Given the description of an element on the screen output the (x, y) to click on. 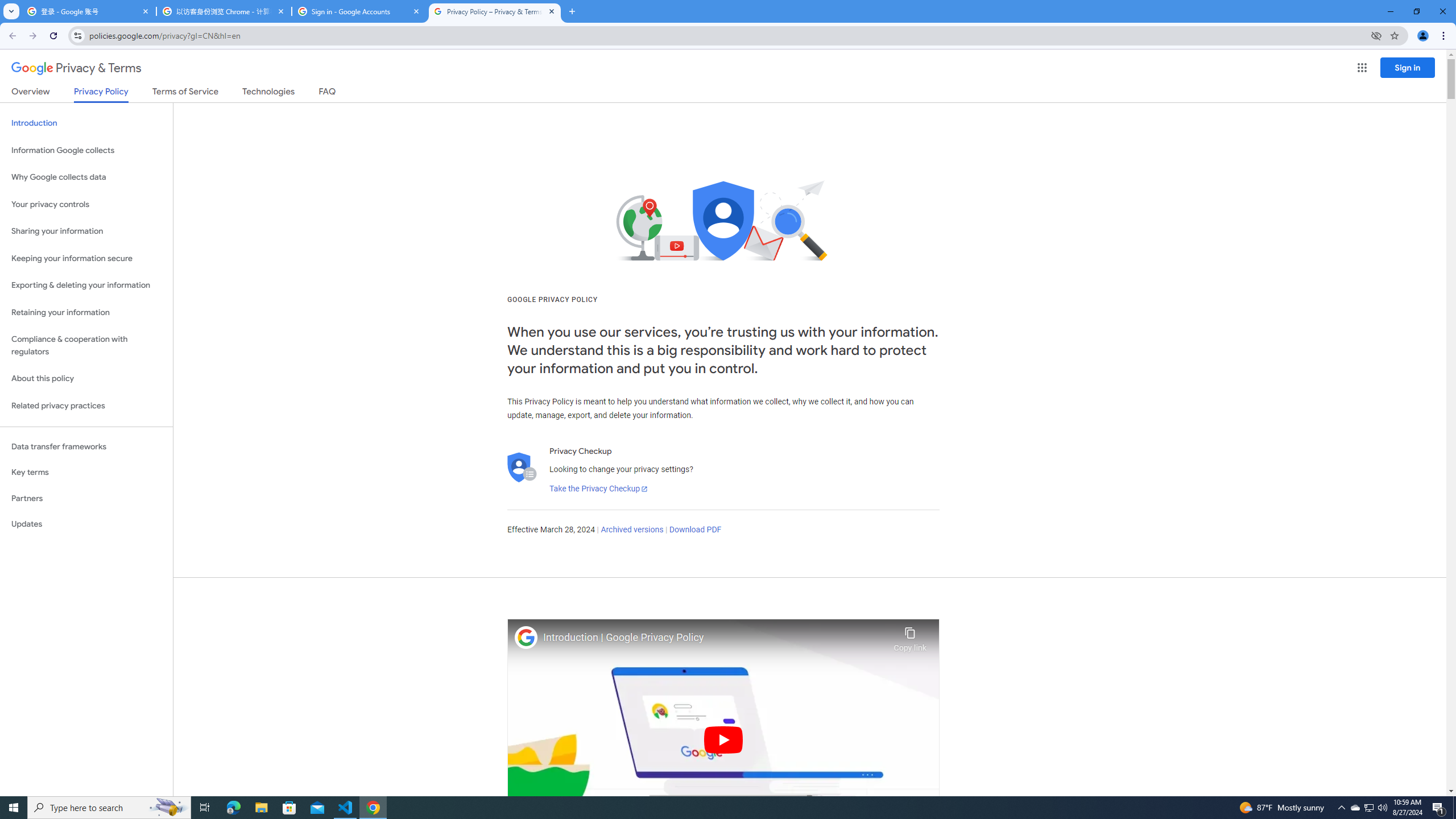
Sharing your information (86, 230)
Why Google collects data (86, 176)
Introduction | Google Privacy Policy (715, 637)
Compliance & cooperation with regulators (86, 345)
